Given the description of an element on the screen output the (x, y) to click on. 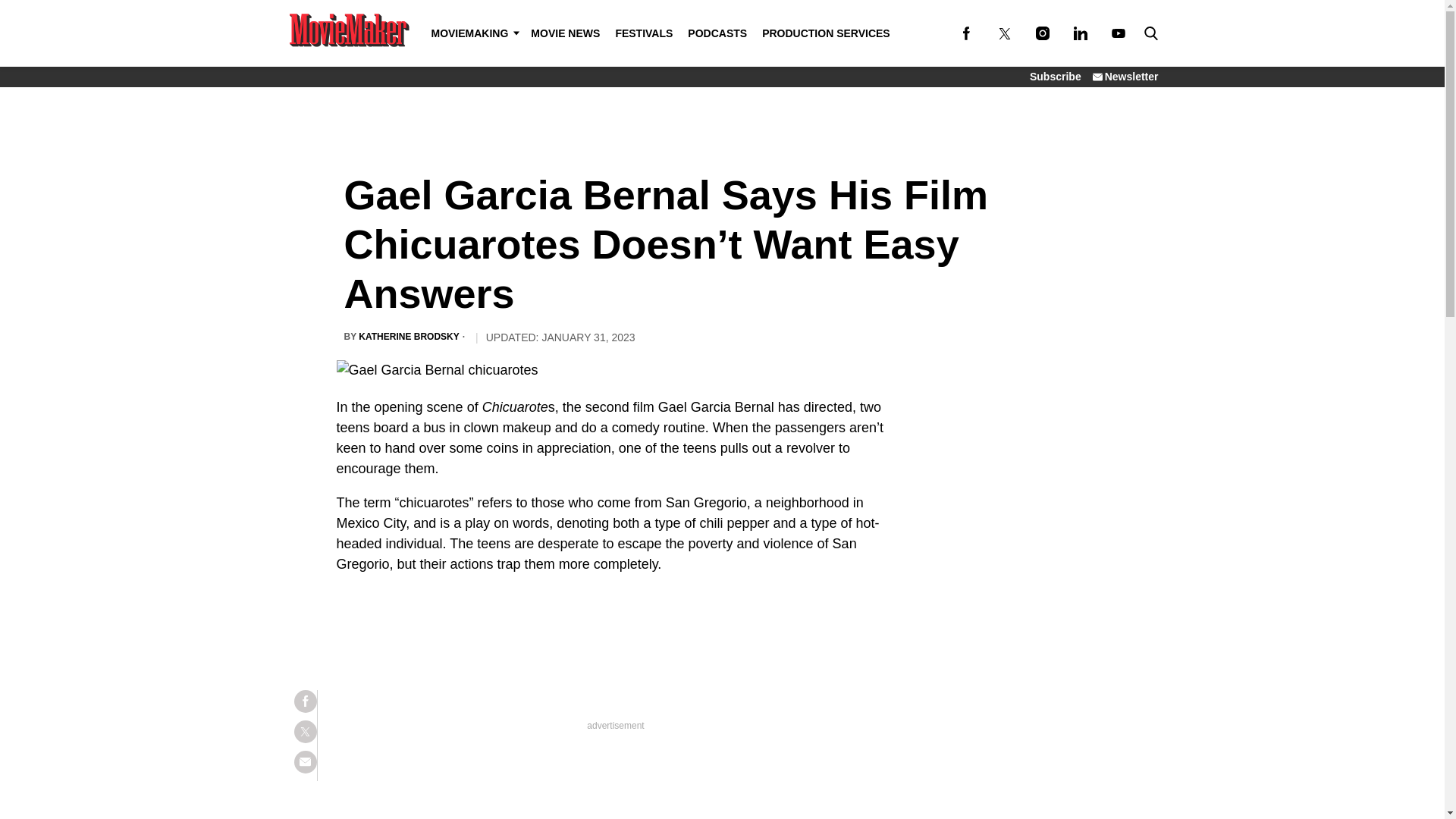
Posts by Katherine Brodsky (408, 336)
Connect with us on LinkedIn (1080, 33)
KATHERINE BRODSKY (408, 336)
Share on Twitter (305, 731)
Follow us on Facebook (966, 33)
Share via Email (305, 762)
Follow us on Instagram (1042, 33)
Follow us on Twitter (1004, 33)
MOVIE NEWS (564, 33)
Subscribe (1055, 76)
Share on Facebook (305, 701)
FESTIVALS (643, 33)
MOVIEMAKING (472, 33)
PRODUCTION SERVICES (826, 33)
Newsletter (1125, 76)
